Given the description of an element on the screen output the (x, y) to click on. 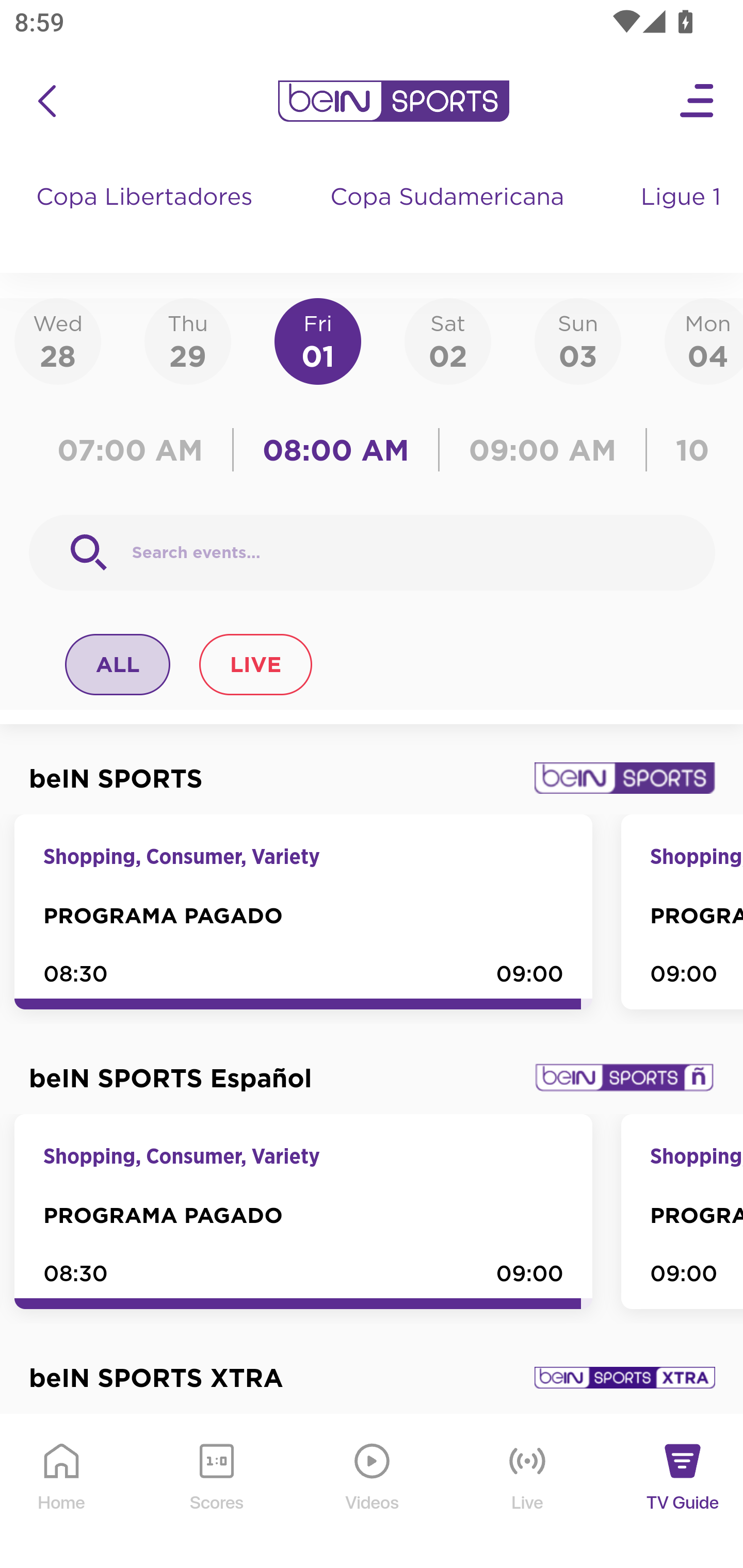
en-us?platform=mobile_android bein logo (392, 101)
icon back (46, 101)
Open Menu Icon (697, 101)
Copa Libertadores (146, 216)
Copa Sudamericana (448, 216)
Ligue 1 (682, 216)
Wed28 (58, 340)
Thu29 (187, 340)
Fri01 (318, 340)
Sat02 (447, 340)
Sun03 (578, 340)
Mon04 (703, 340)
07:00 AM (135, 449)
08:00 AM (336, 449)
09:00 AM (542, 449)
ALL (118, 663)
LIVE (255, 663)
Home Home Icon Home (61, 1491)
Scores Scores Icon Scores (216, 1491)
Videos Videos Icon Videos (372, 1491)
TV Guide TV Guide Icon TV Guide (682, 1491)
